Given the description of an element on the screen output the (x, y) to click on. 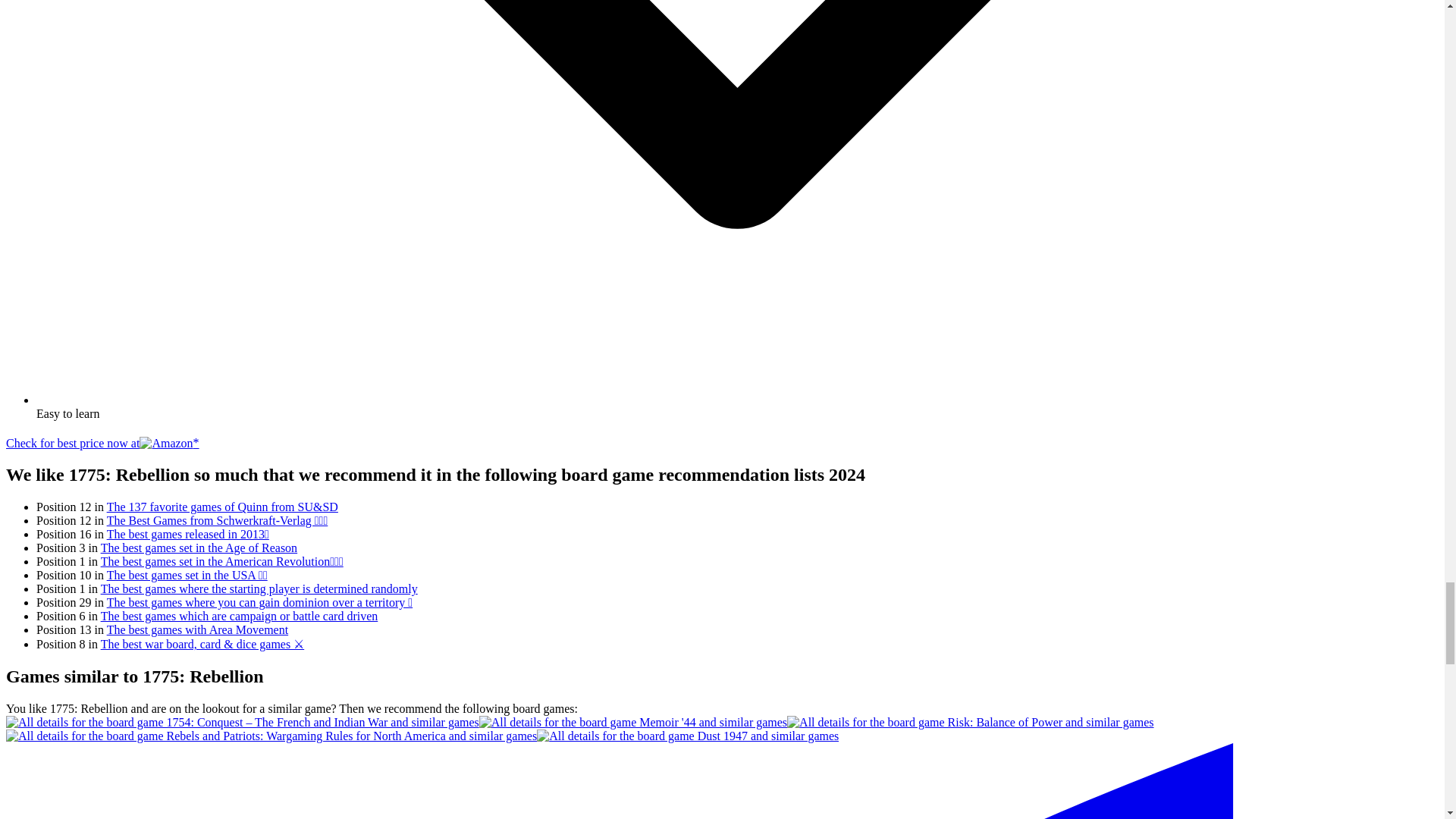
The best games set in the Age of Reason (199, 547)
The best games which are campaign or battle card driven (239, 615)
Check for best price now at (99, 442)
The best games with Area Movement (197, 629)
